Given the description of an element on the screen output the (x, y) to click on. 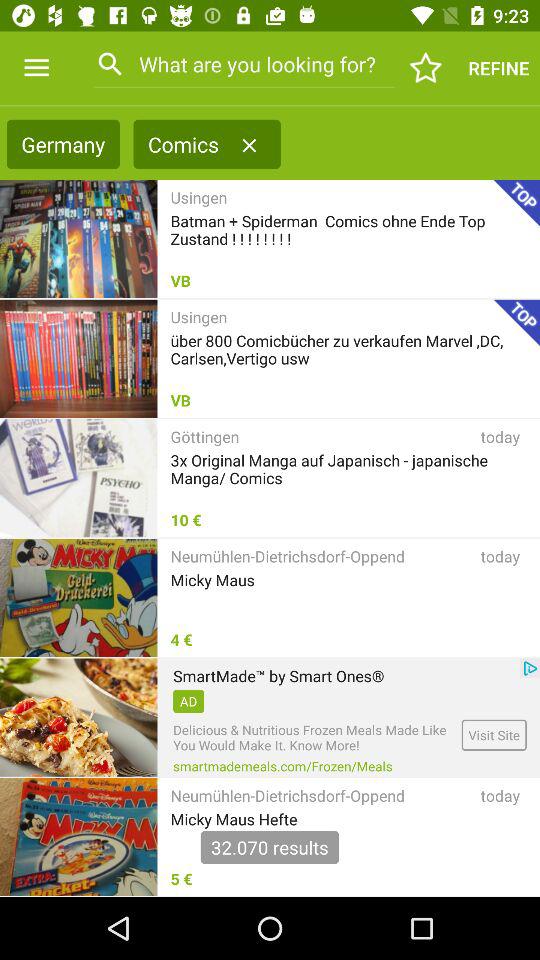
select the icon above the ad item (278, 675)
